Given the description of an element on the screen output the (x, y) to click on. 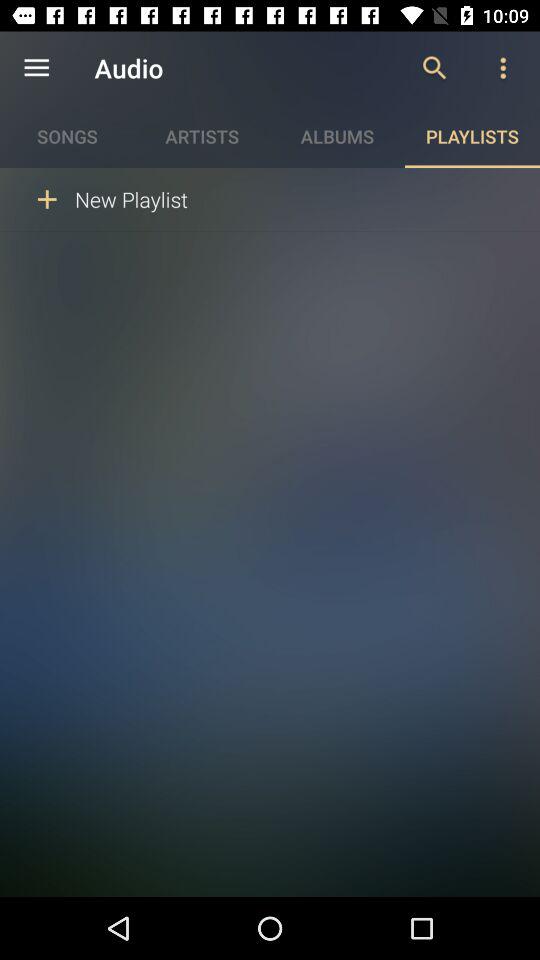
tap icon next to audio item (434, 67)
